Given the description of an element on the screen output the (x, y) to click on. 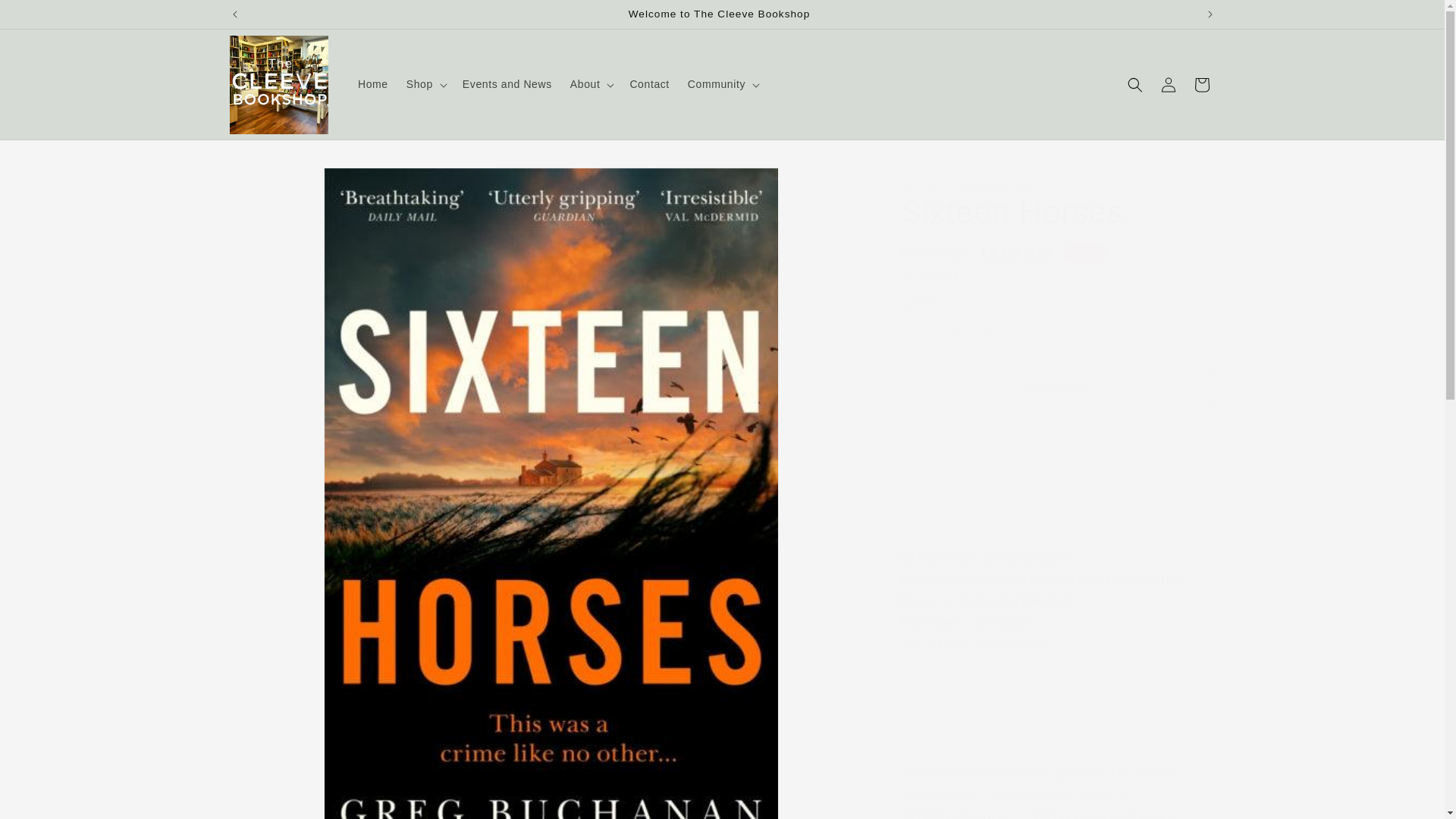
Skip to content (45, 17)
Home (373, 83)
1 (955, 333)
